Given the description of an element on the screen output the (x, y) to click on. 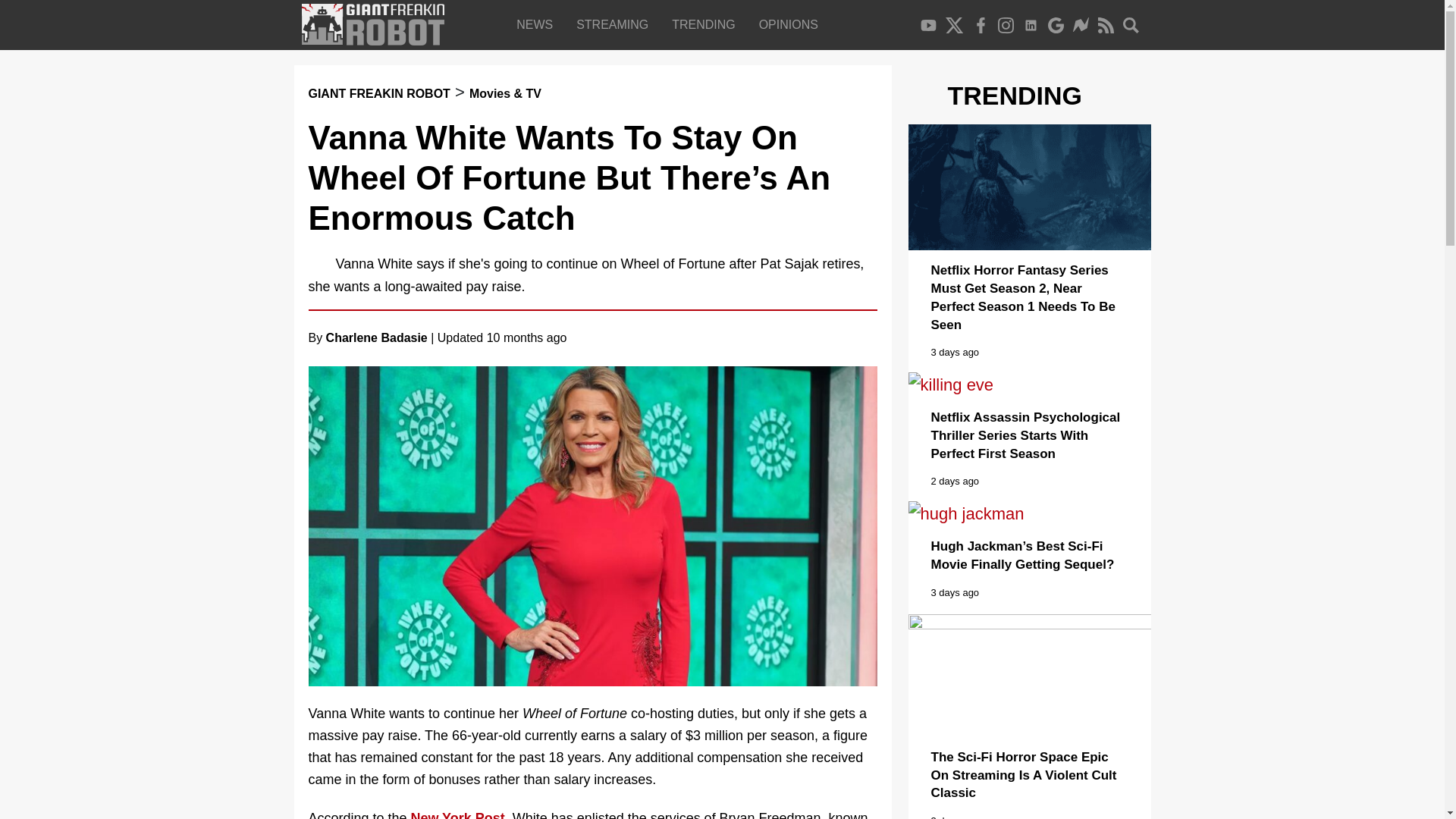
Streaming (615, 24)
STREAMING (615, 24)
Entertainment News (537, 24)
Charlene Badasie (377, 337)
OPINIONS (791, 24)
Trending (706, 24)
GIANT FREAKIN ROBOT (378, 92)
NEWS (537, 24)
TRENDING (706, 24)
